Given the description of an element on the screen output the (x, y) to click on. 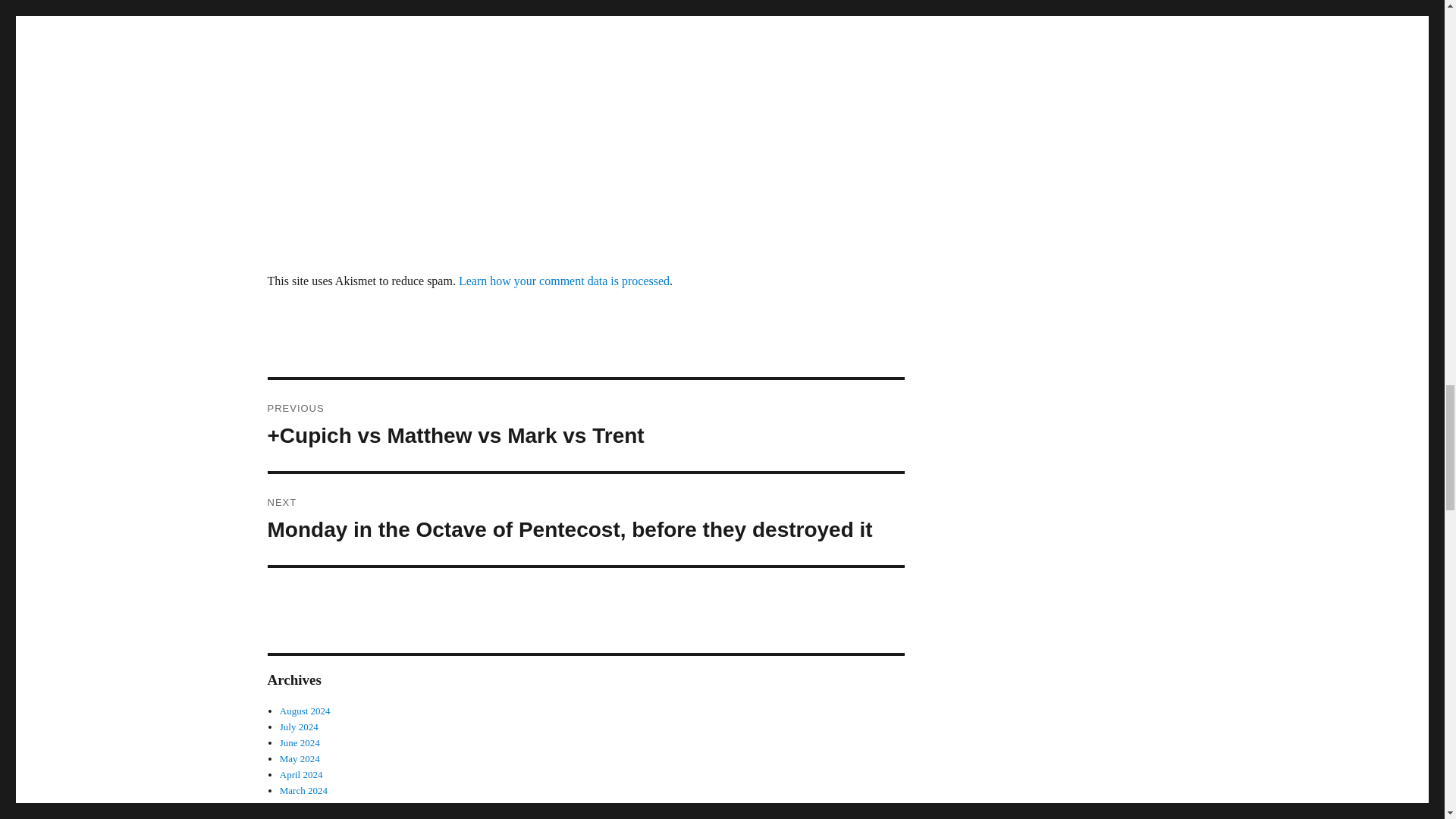
June 2024 (299, 742)
May 2024 (299, 758)
August 2024 (304, 710)
July 2024 (298, 726)
January 2024 (306, 817)
April 2024 (301, 774)
February 2024 (308, 806)
March 2024 (303, 790)
